Given the description of an element on the screen output the (x, y) to click on. 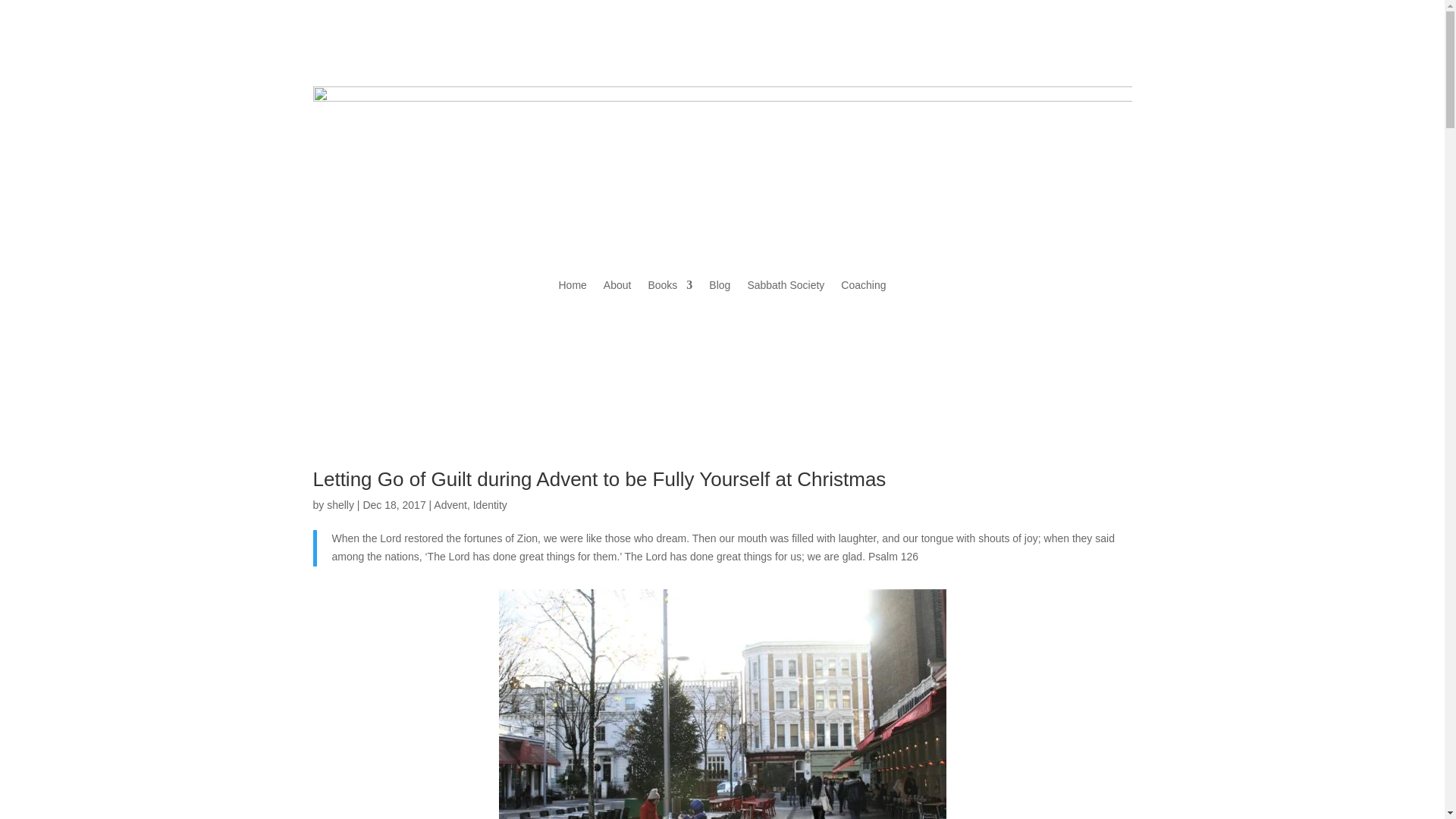
Coaching (863, 288)
Blog (719, 288)
Sabbath Society (785, 288)
Identity (489, 504)
About (617, 288)
Posts by shelly (339, 504)
Books (670, 288)
Advent (450, 504)
